Given the description of an element on the screen output the (x, y) to click on. 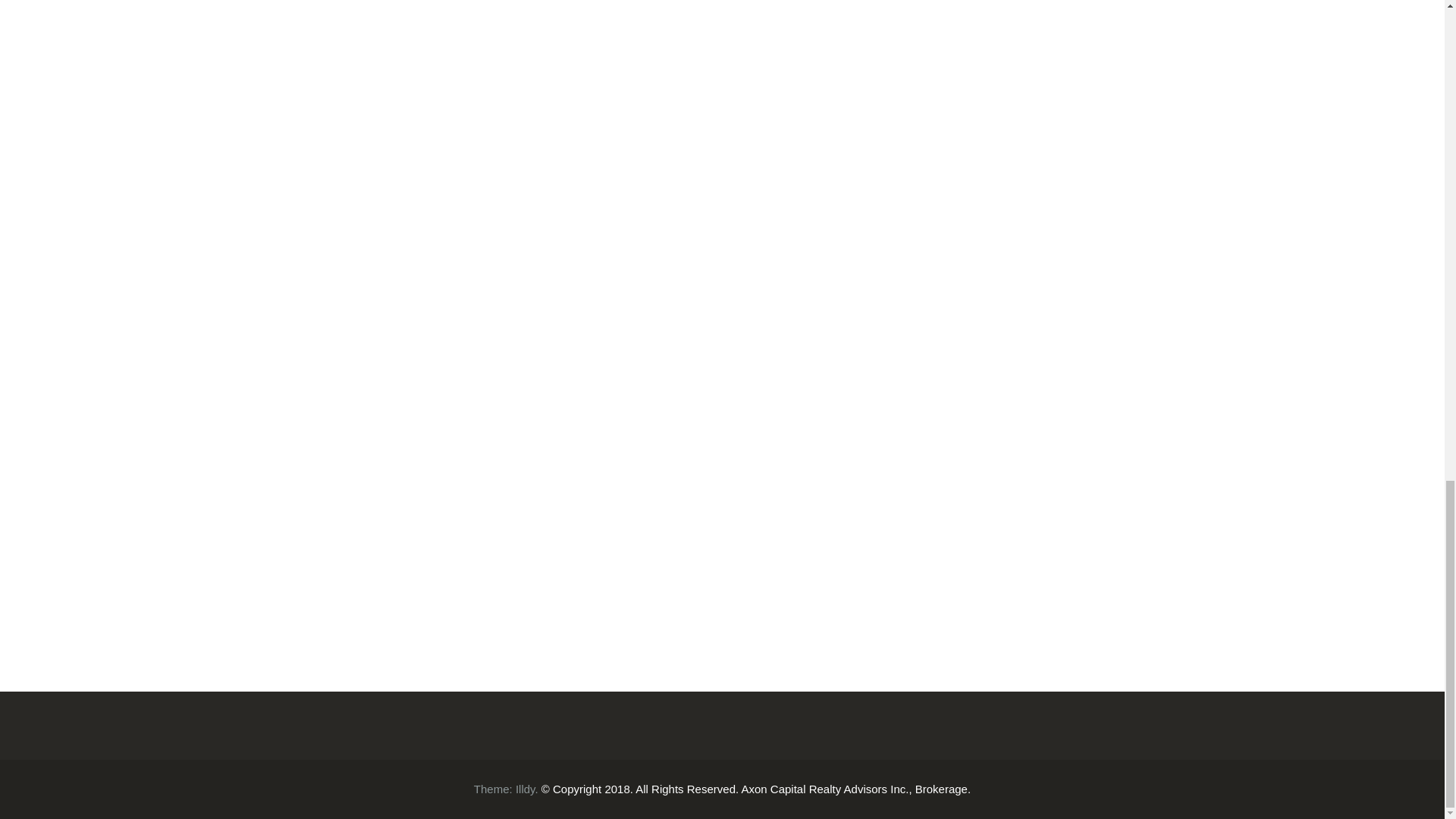
Illdy (525, 788)
Illdy (525, 788)
